Given the description of an element on the screen output the (x, y) to click on. 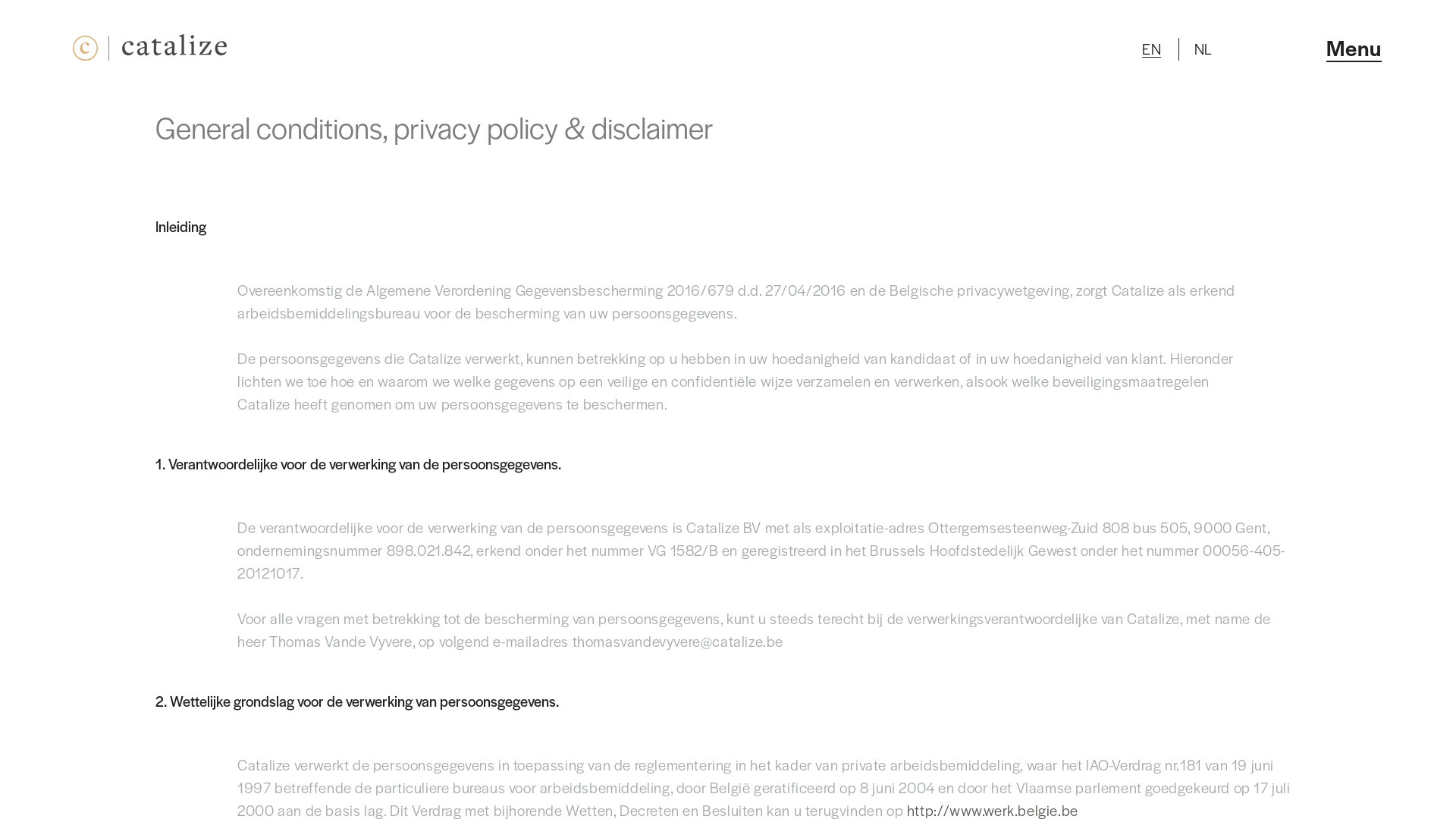
EN Element type: text (1151, 49)
NL Element type: text (1203, 48)
Menu Element type: text (1353, 48)
c Catalize Element type: text (149, 53)
